Given the description of an element on the screen output the (x, y) to click on. 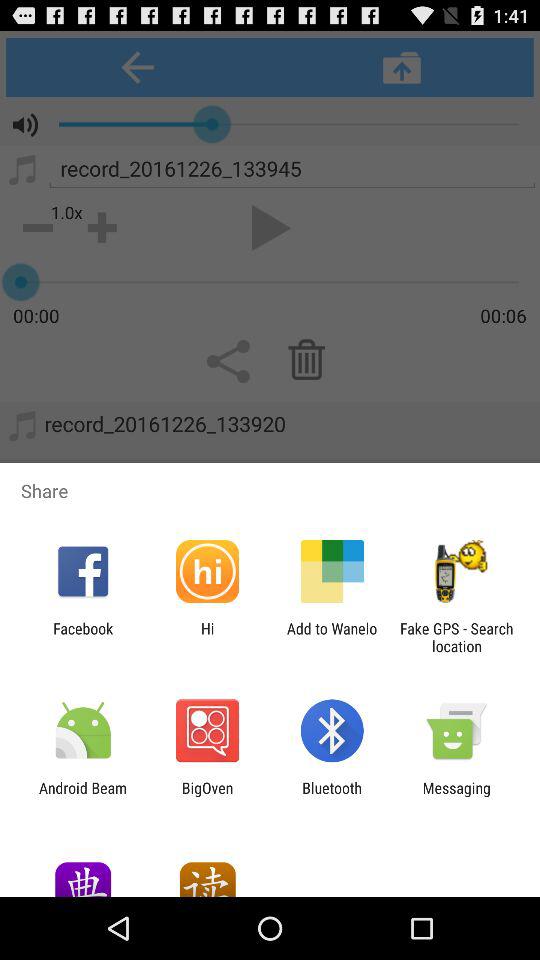
launch the app next to the hi app (331, 637)
